Given the description of an element on the screen output the (x, y) to click on. 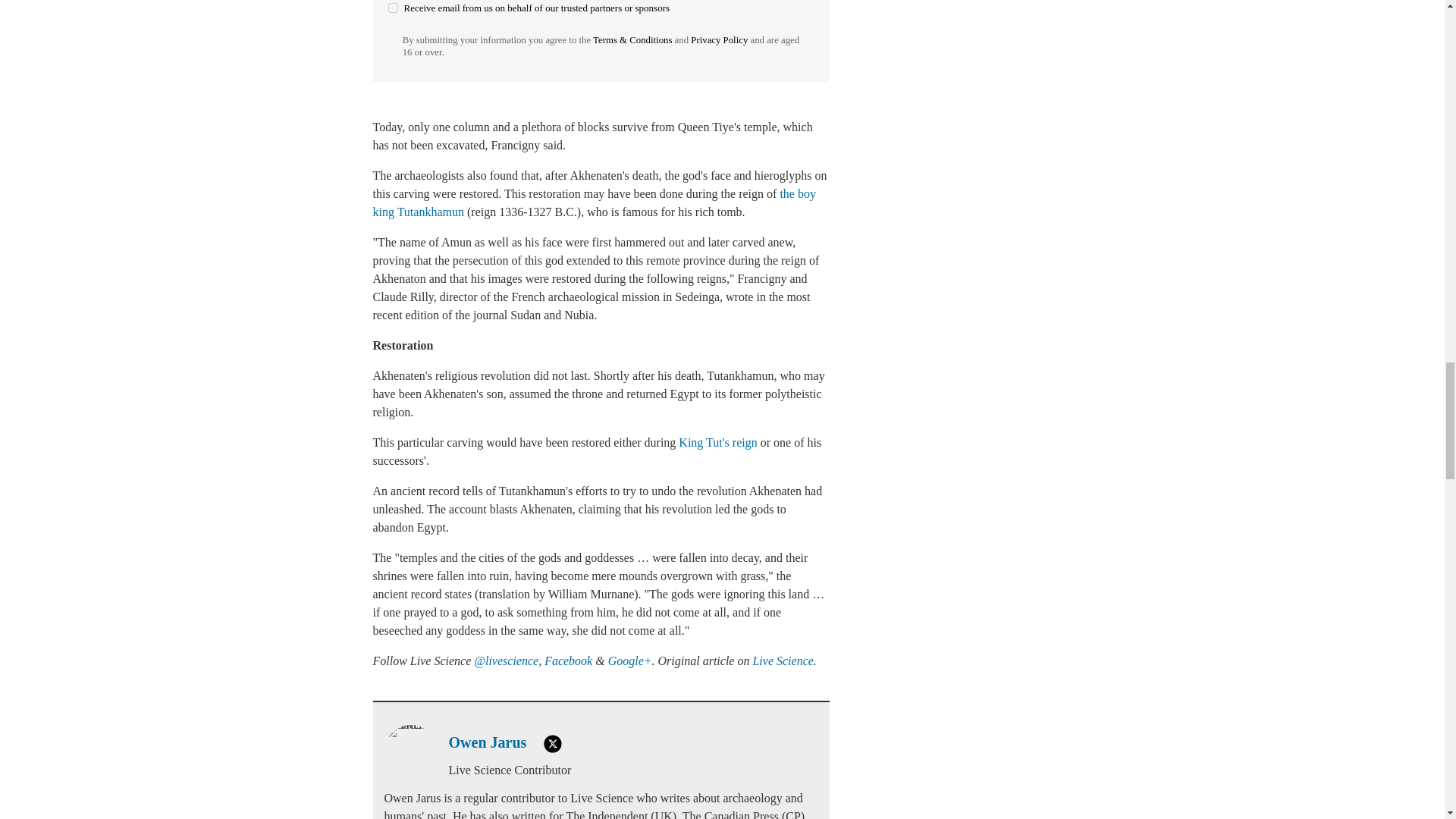
on (392, 8)
